Given the description of an element on the screen output the (x, y) to click on. 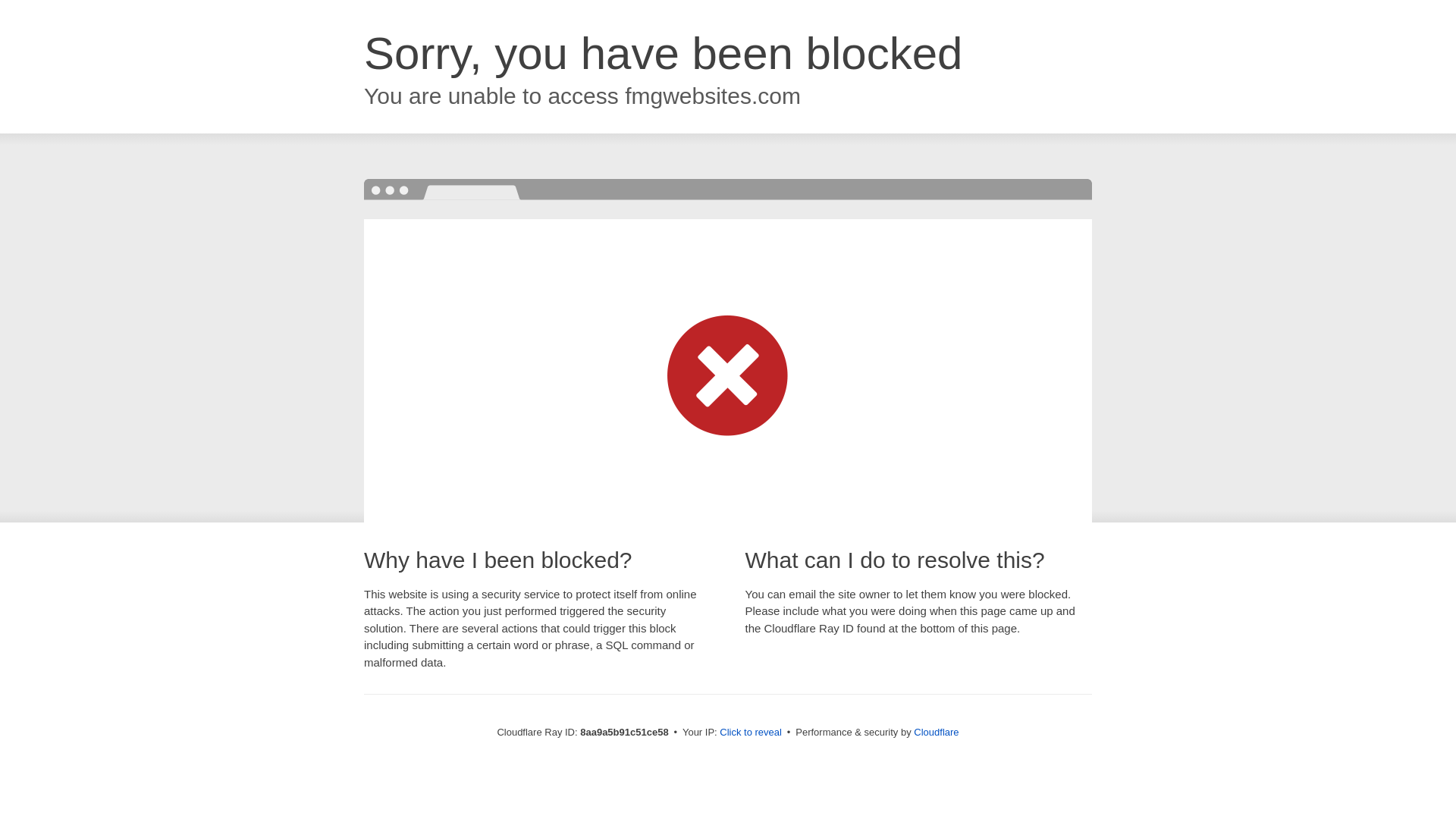
Click to reveal (750, 732)
Cloudflare (936, 731)
